Given the description of an element on the screen output the (x, y) to click on. 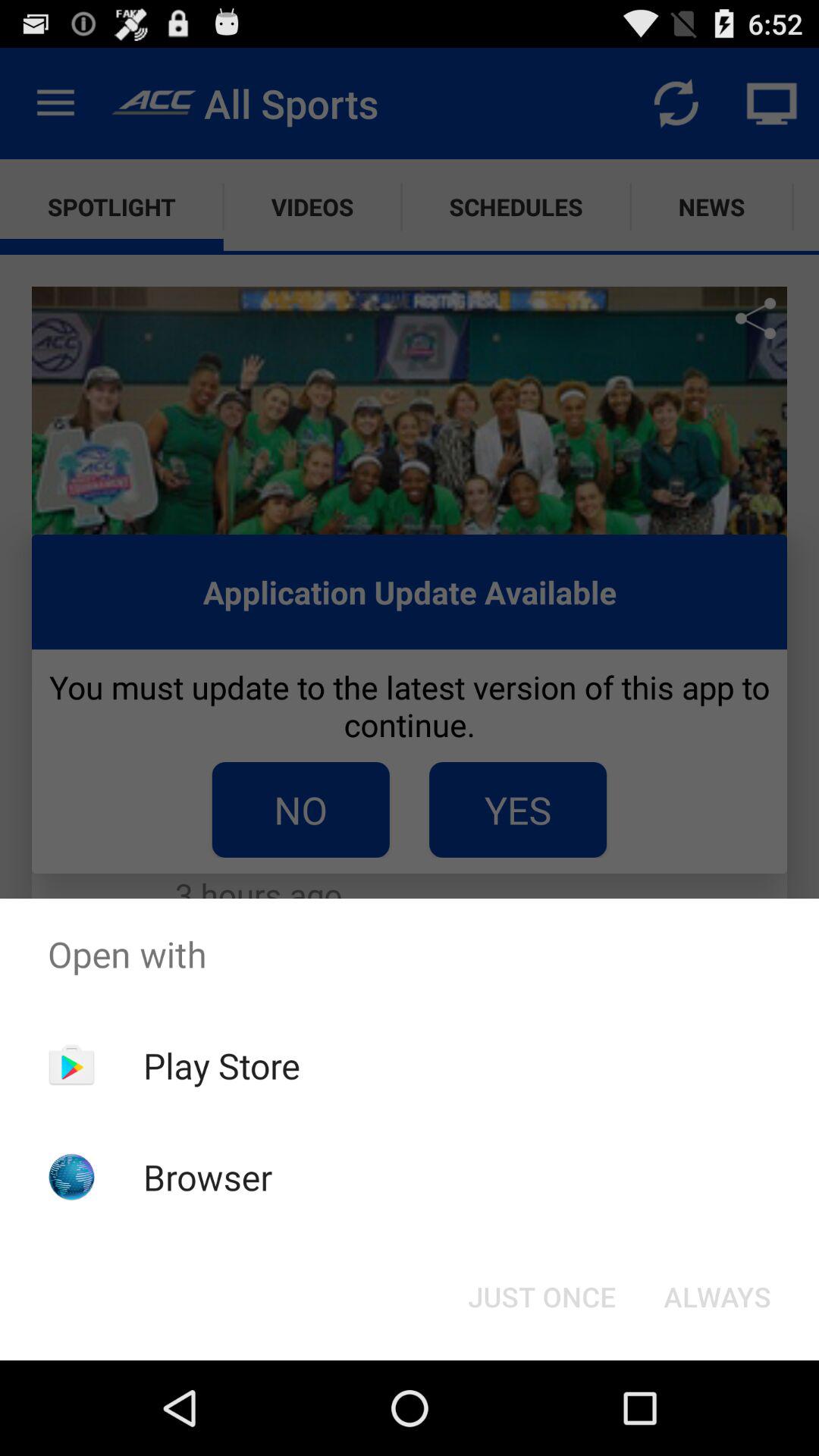
tap item next to just once button (717, 1296)
